Given the description of an element on the screen output the (x, y) to click on. 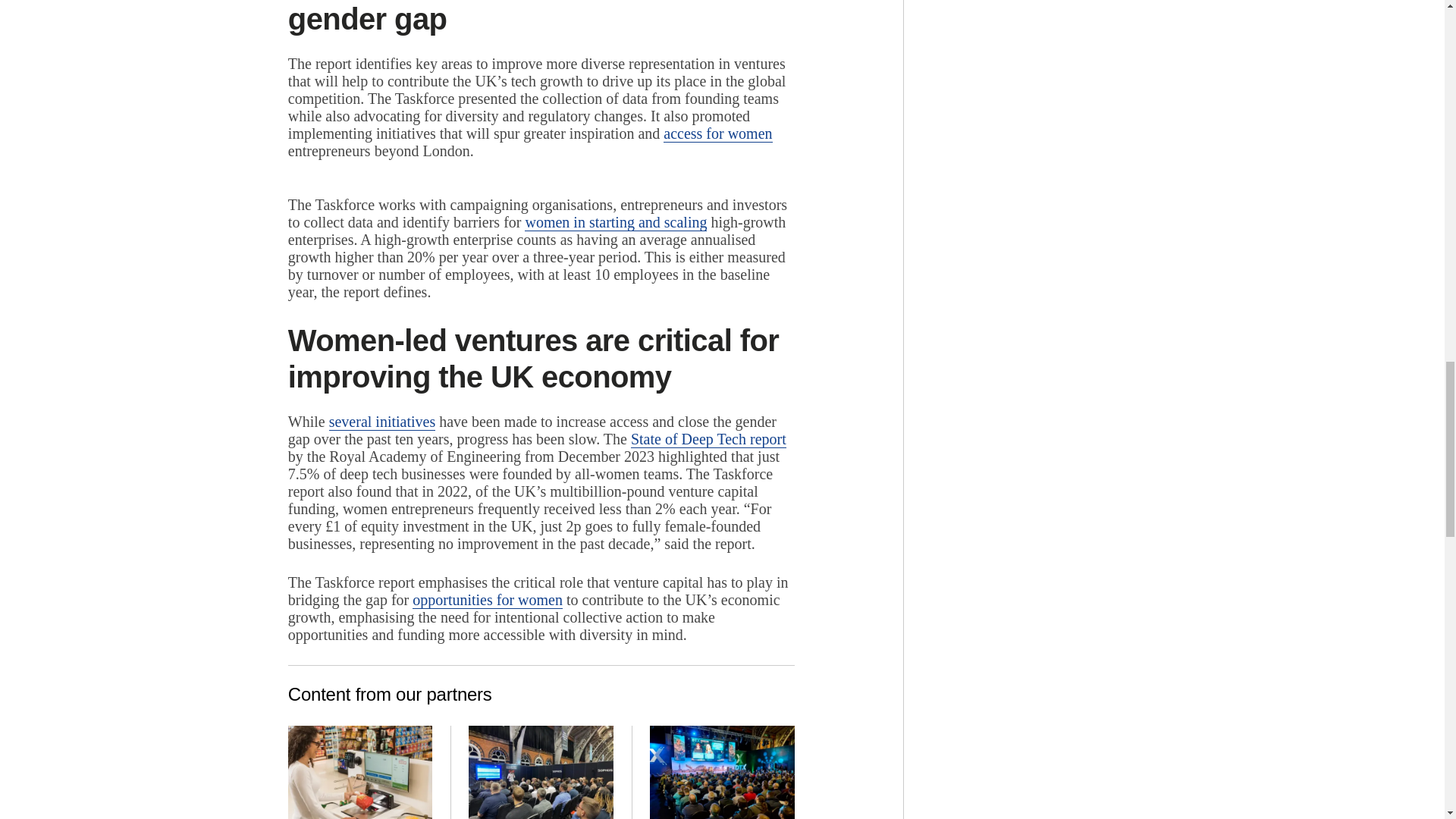
Scan and deliver (360, 772)
